Given the description of an element on the screen output the (x, y) to click on. 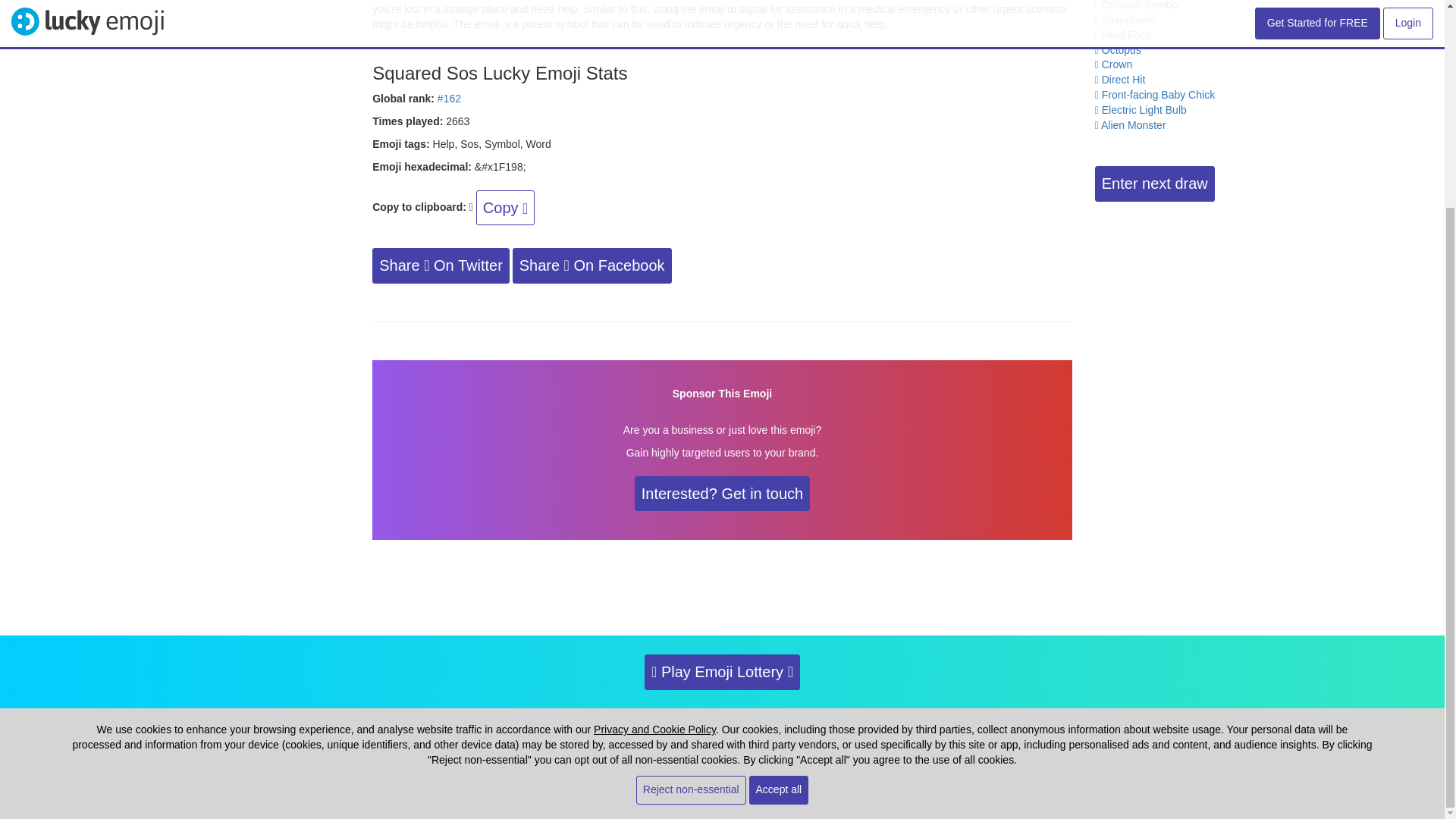
Interested? Get in touch (721, 493)
Contact (695, 745)
Referral (648, 745)
Terms of Service (586, 745)
Competitions (751, 745)
Enter next draw (1154, 183)
Copy (505, 208)
News (943, 745)
Guess The Emoji (823, 745)
Privacy Policy (515, 745)
